Given the description of an element on the screen output the (x, y) to click on. 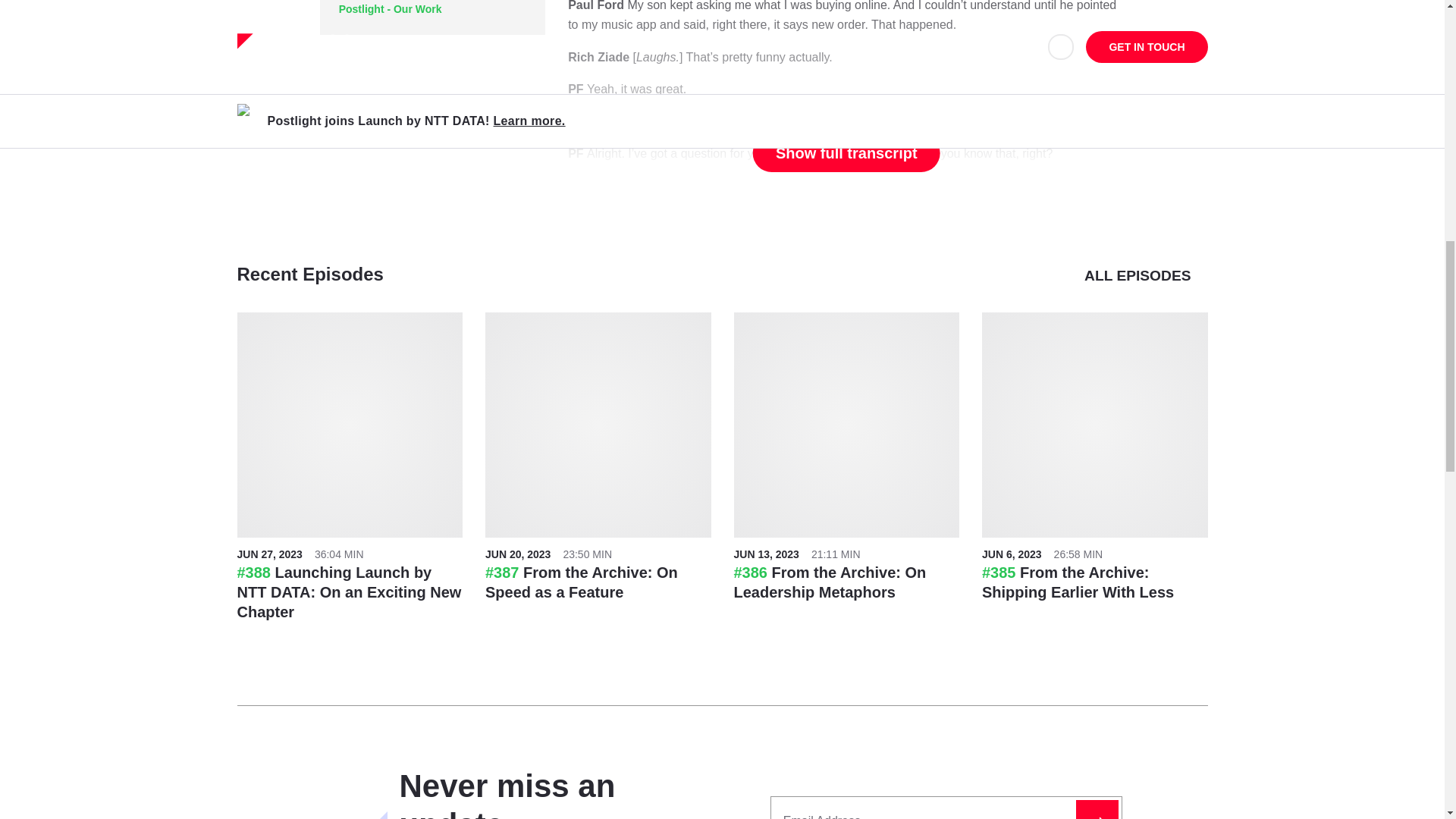
Join Newsletter (1096, 809)
Postlight - Our Work (390, 9)
ALL EPISODES (1145, 275)
Show full transcript (846, 152)
